Given the description of an element on the screen output the (x, y) to click on. 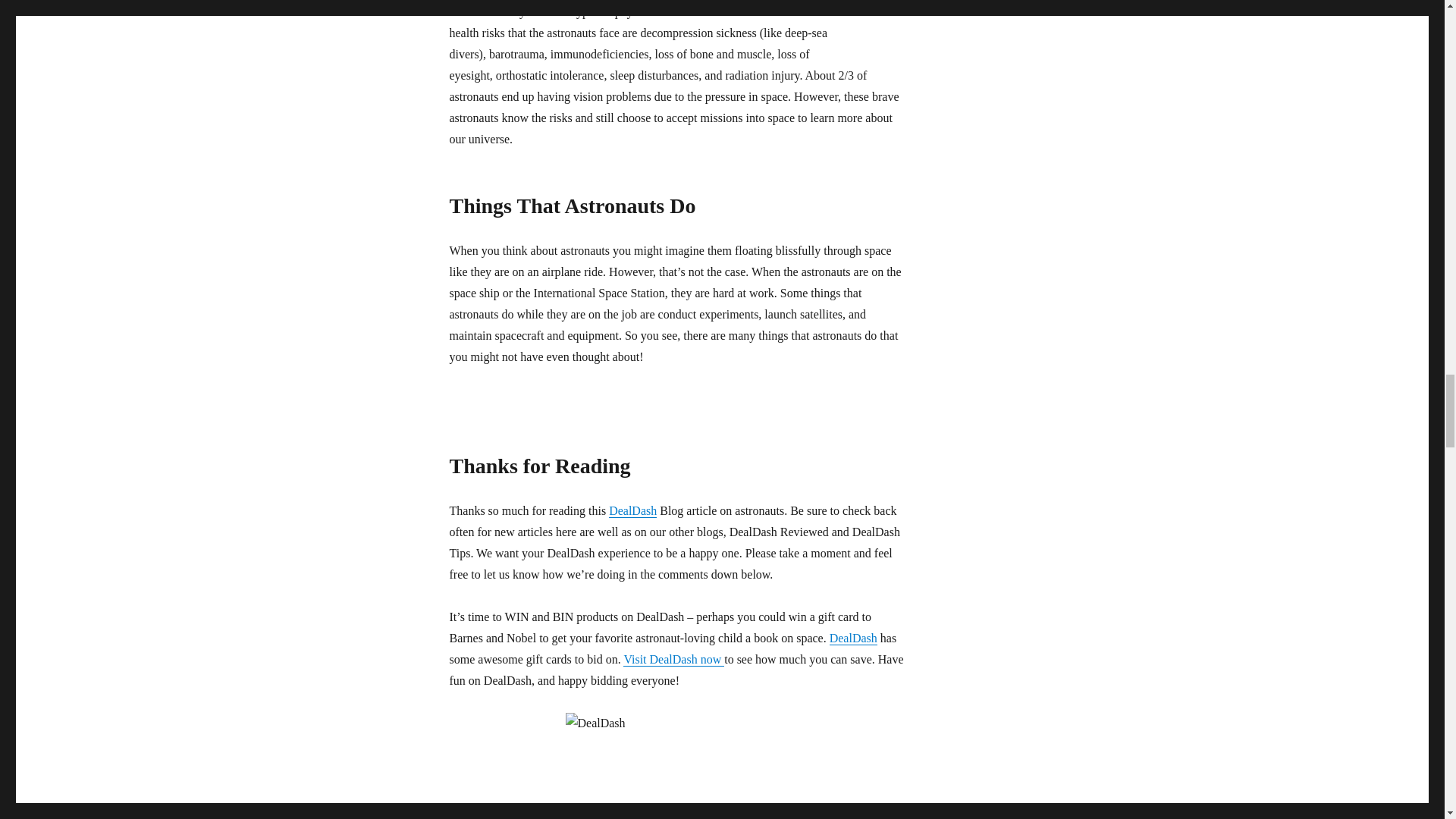
DealDash (853, 637)
DealDash (632, 510)
Visit DealDash now  (673, 658)
